Given the description of an element on the screen output the (x, y) to click on. 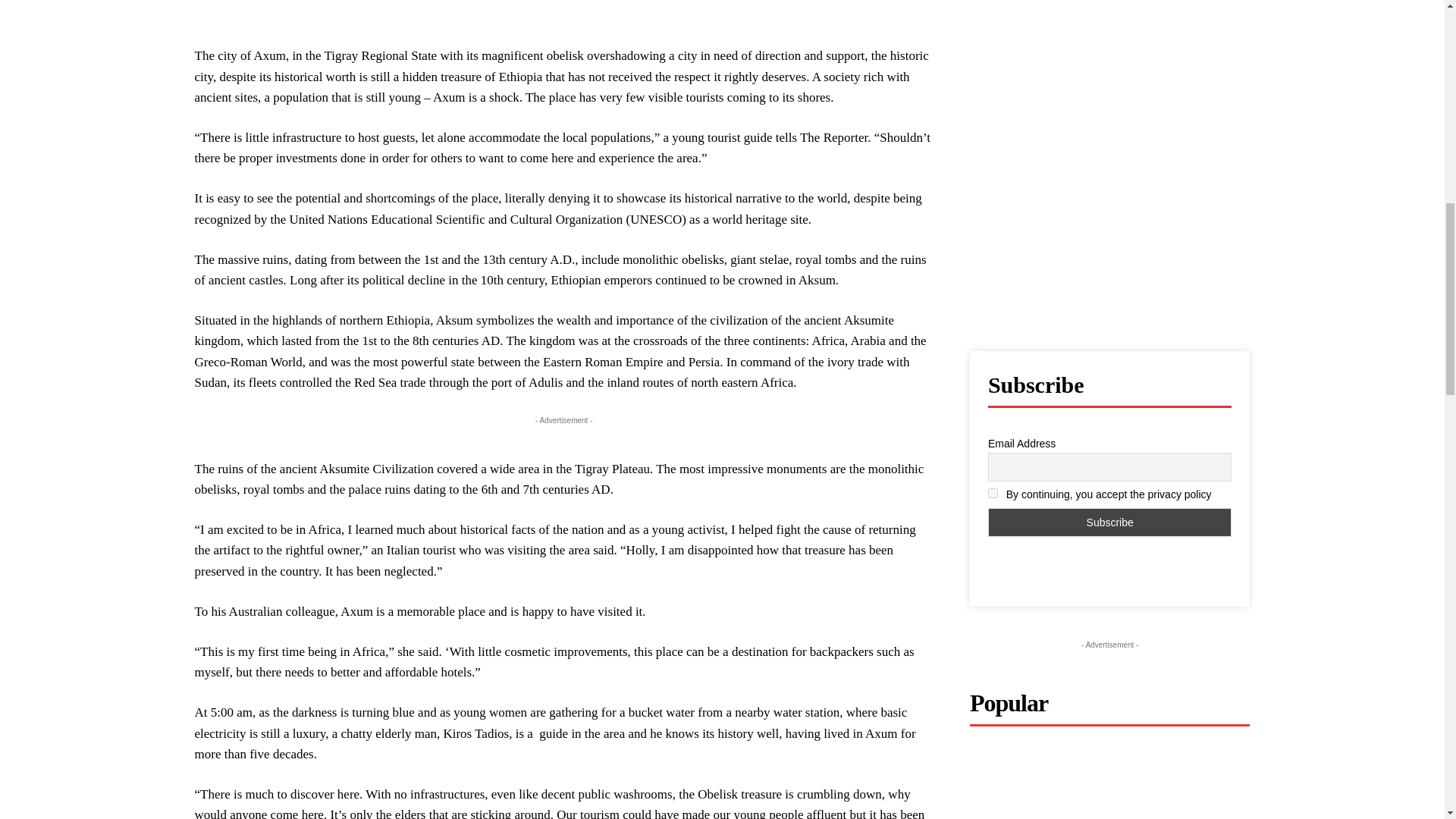
Subscribe (1109, 522)
on (992, 492)
